Given the description of an element on the screen output the (x, y) to click on. 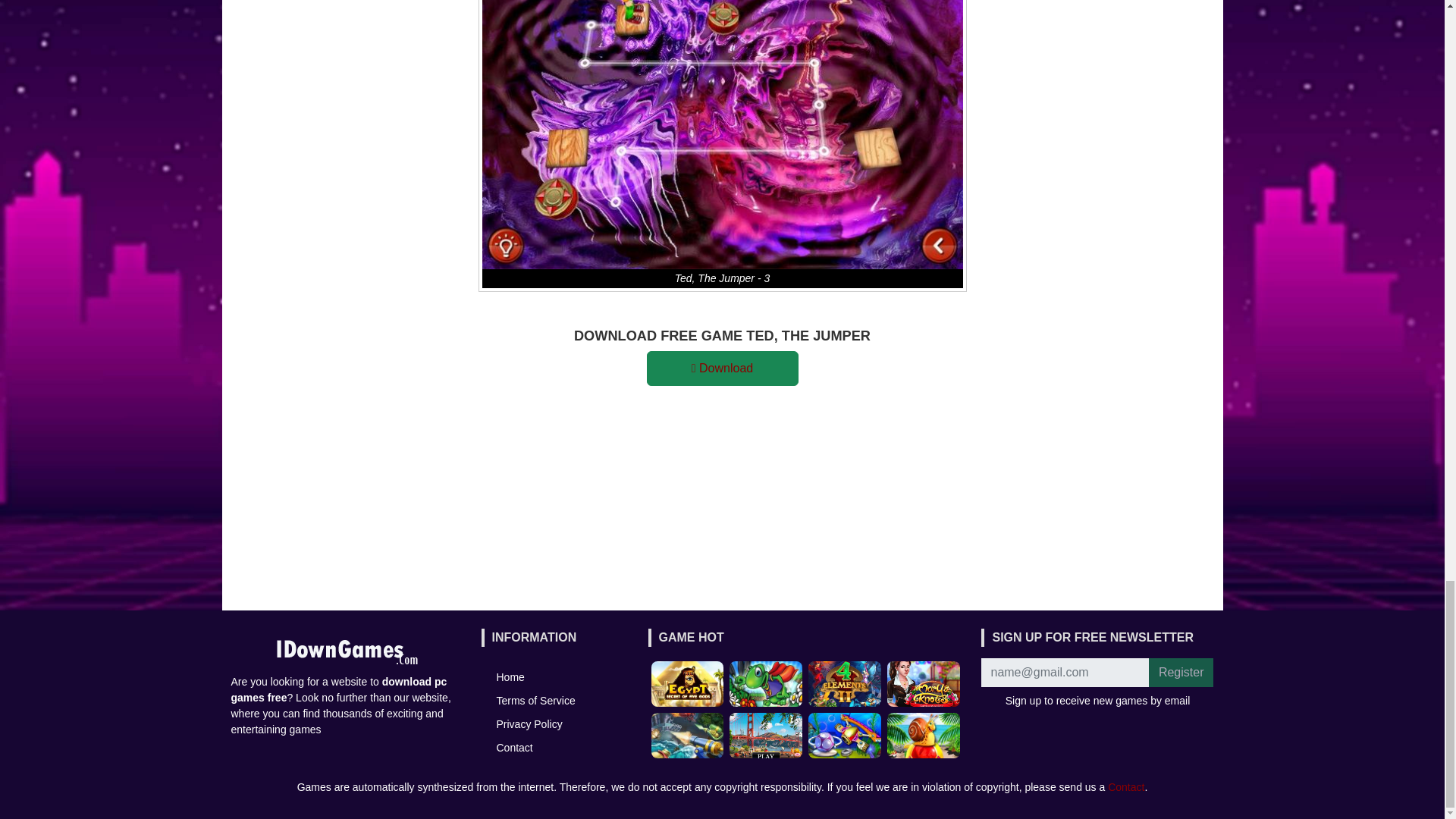
Home (509, 677)
Download (721, 368)
Idowngames.com (346, 651)
